Given the description of an element on the screen output the (x, y) to click on. 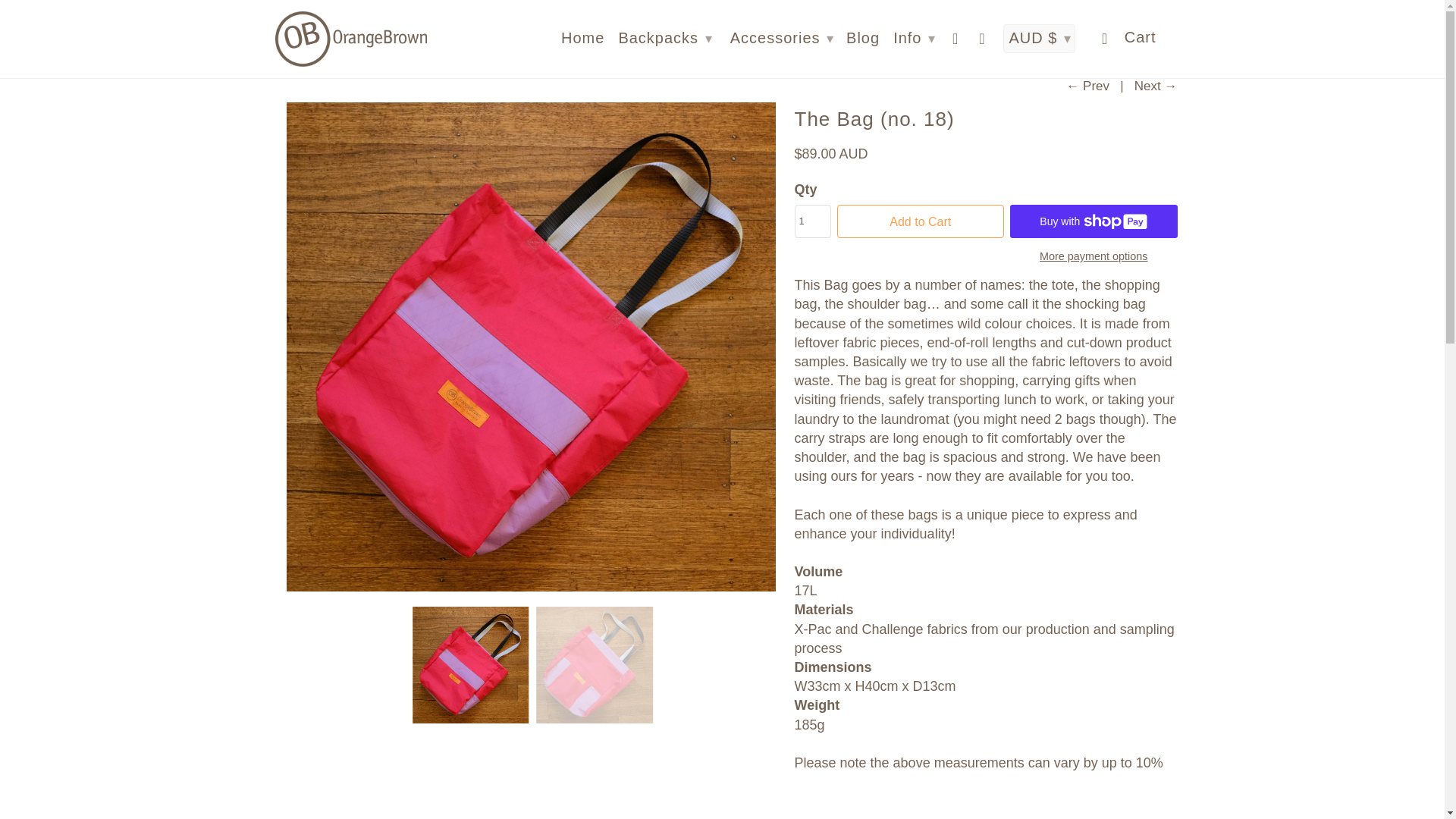
1 (812, 221)
Accessories (368, 26)
OrangeBrown (291, 26)
